Given the description of an element on the screen output the (x, y) to click on. 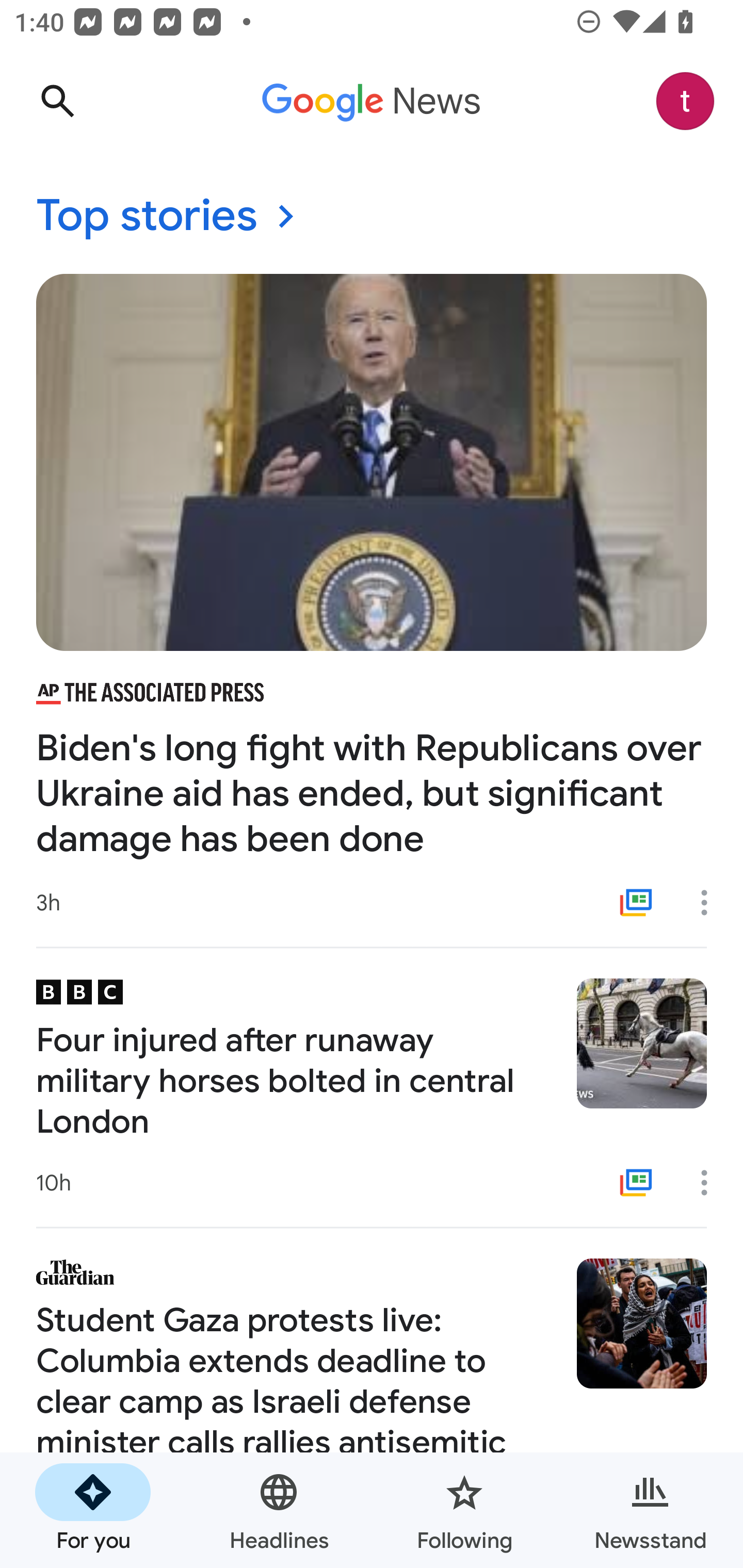
Search (57, 100)
Top stories (371, 216)
More options (711, 902)
More options (711, 1182)
For you (92, 1509)
Headlines (278, 1509)
Following (464, 1509)
Newsstand (650, 1509)
